Given the description of an element on the screen output the (x, y) to click on. 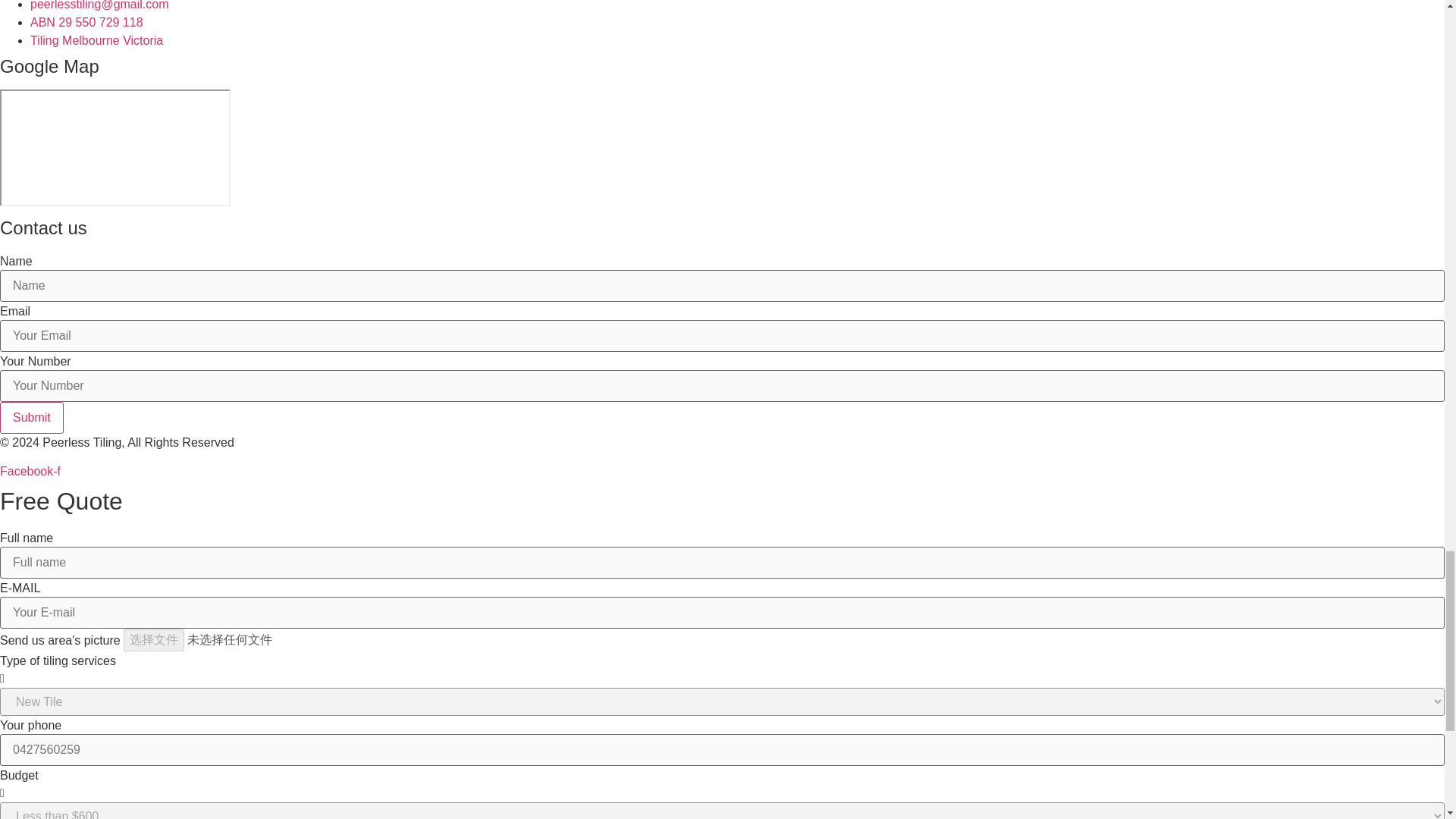
Melbourne Victoria (115, 147)
